Given the description of an element on the screen output the (x, y) to click on. 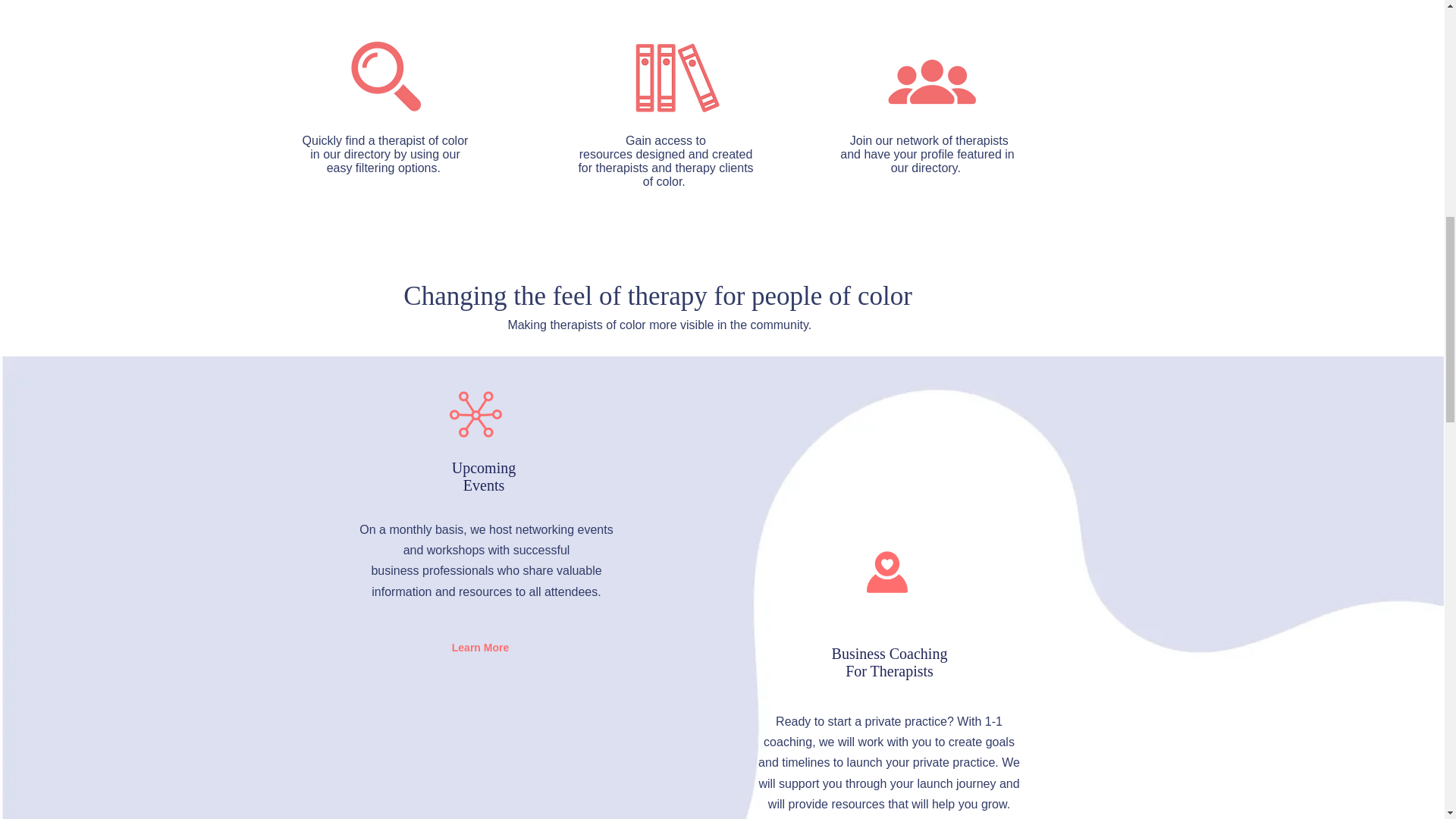
Learn More (480, 648)
